Given the description of an element on the screen output the (x, y) to click on. 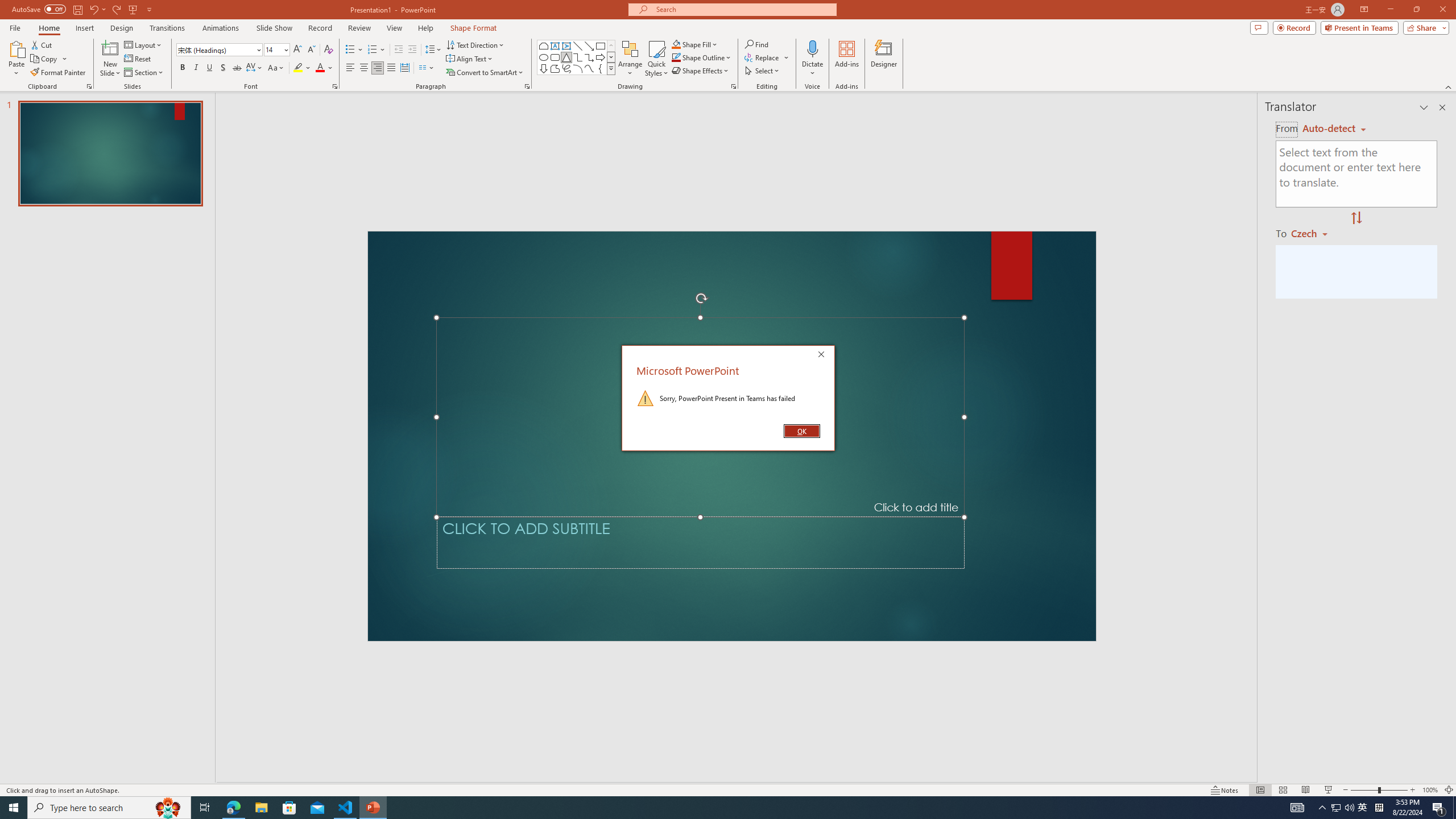
Swap "from" and "to" languages. (1355, 218)
Subtitle TextBox (699, 542)
